Given the description of an element on the screen output the (x, y) to click on. 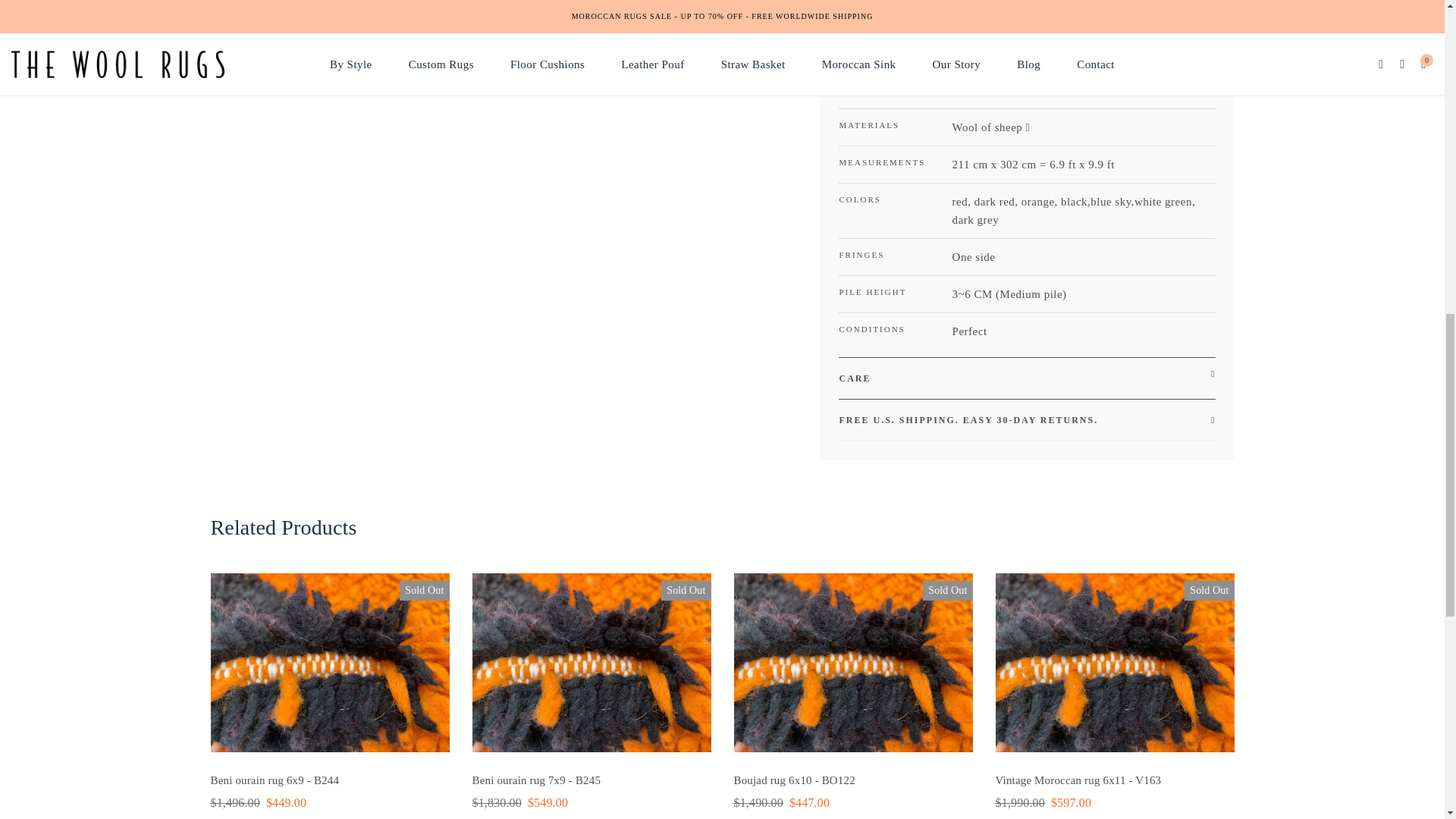
Beni ourain rug 6x9 - B244 (275, 779)
Beni ourain rug 7x9 - B245 (535, 779)
Vintage Moroccan rug 6x11 - V163 (1077, 779)
Boujad rug 6x10 - BO122 (794, 779)
